Given the description of an element on the screen output the (x, y) to click on. 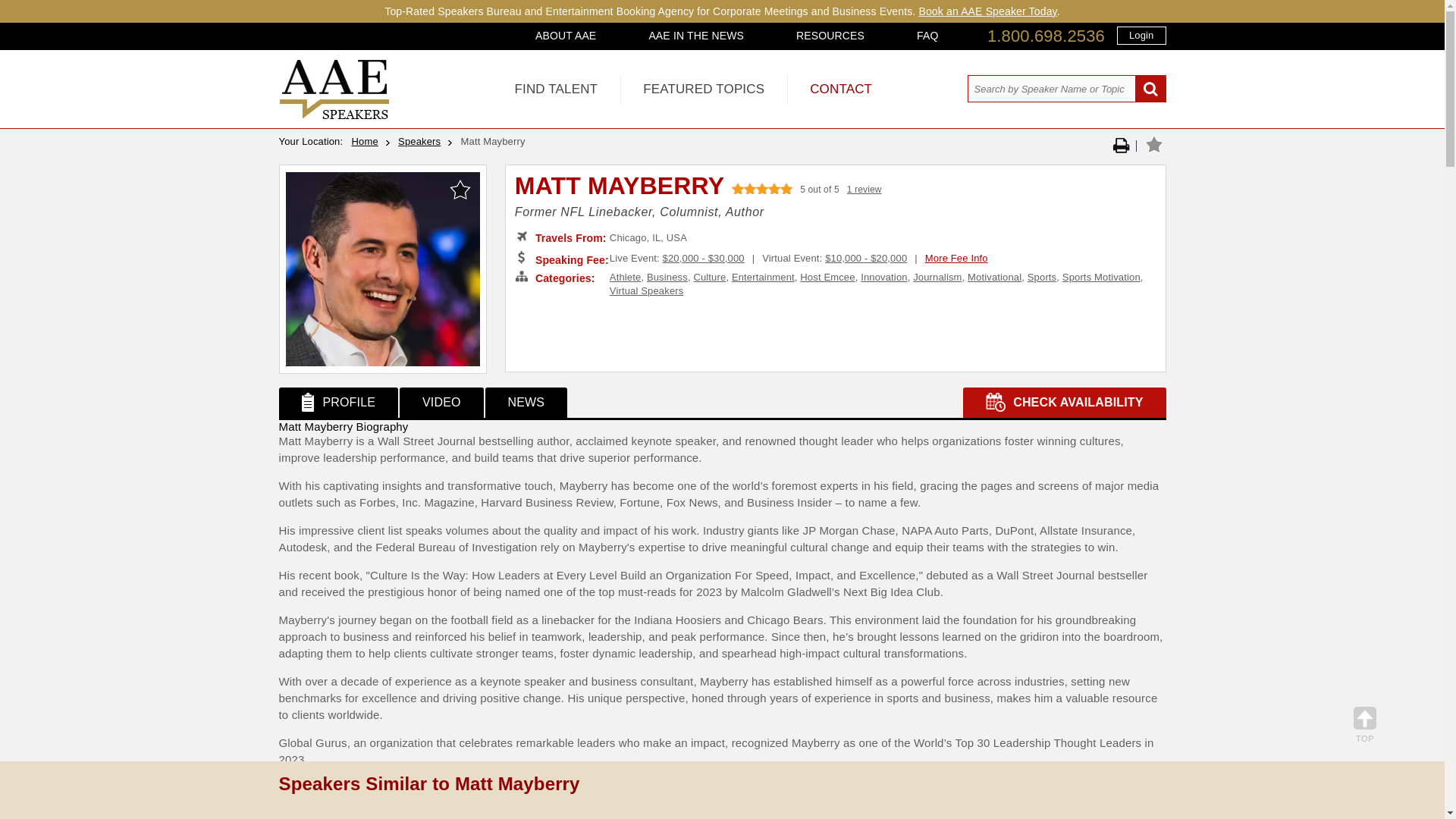
AAE IN THE NEWS (695, 34)
1.800.698.2536 (1046, 35)
FAQ (927, 34)
RESOURCES (829, 34)
Login (1141, 35)
All American Speakers Bureau and Celebrity Booking Agency (334, 115)
Search (1150, 89)
Book an AAE Speaker Today (987, 10)
ABOUT AAE (565, 34)
